Given the description of an element on the screen output the (x, y) to click on. 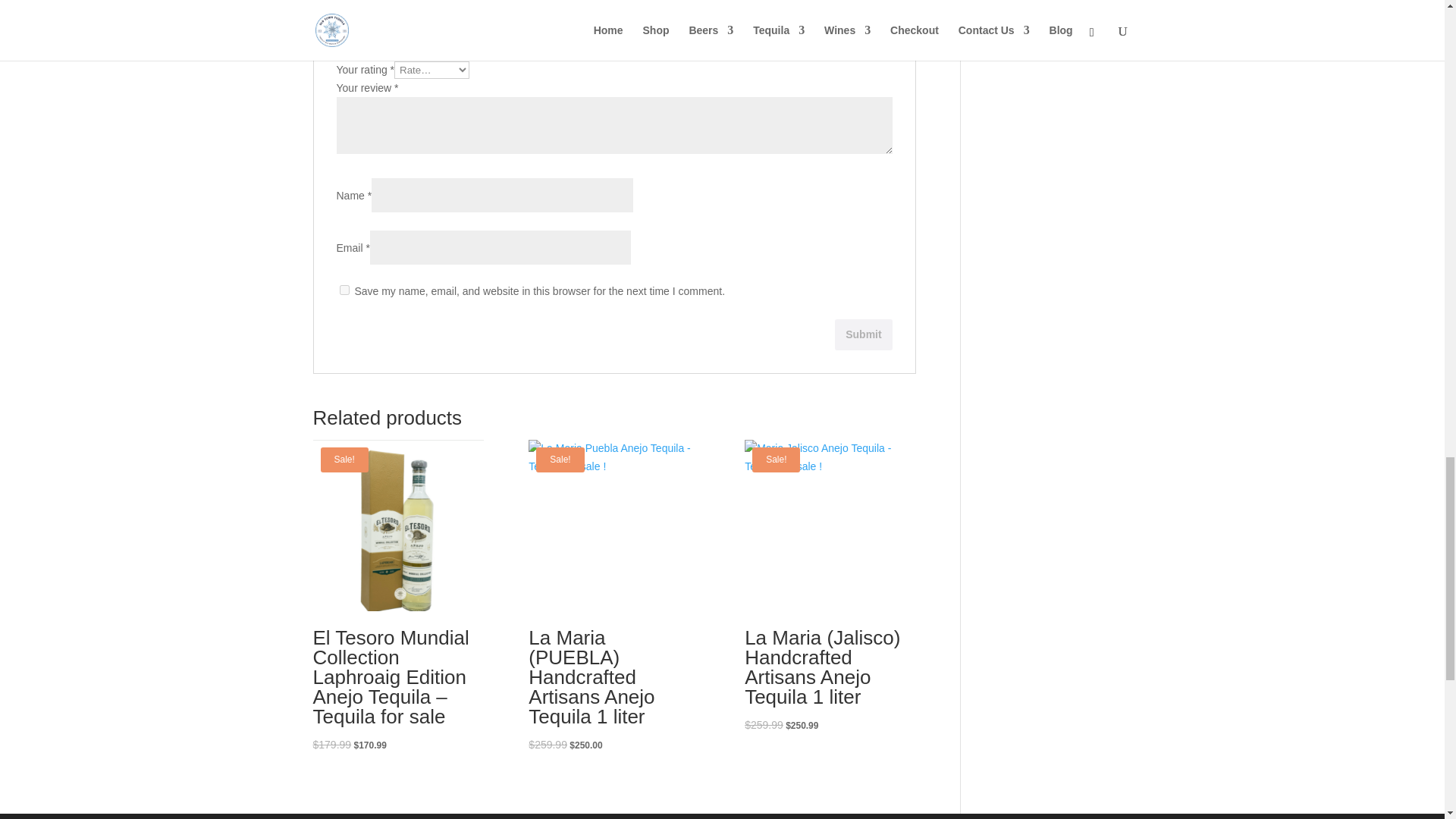
yes (344, 289)
Submit (862, 334)
